Given the description of an element on the screen output the (x, y) to click on. 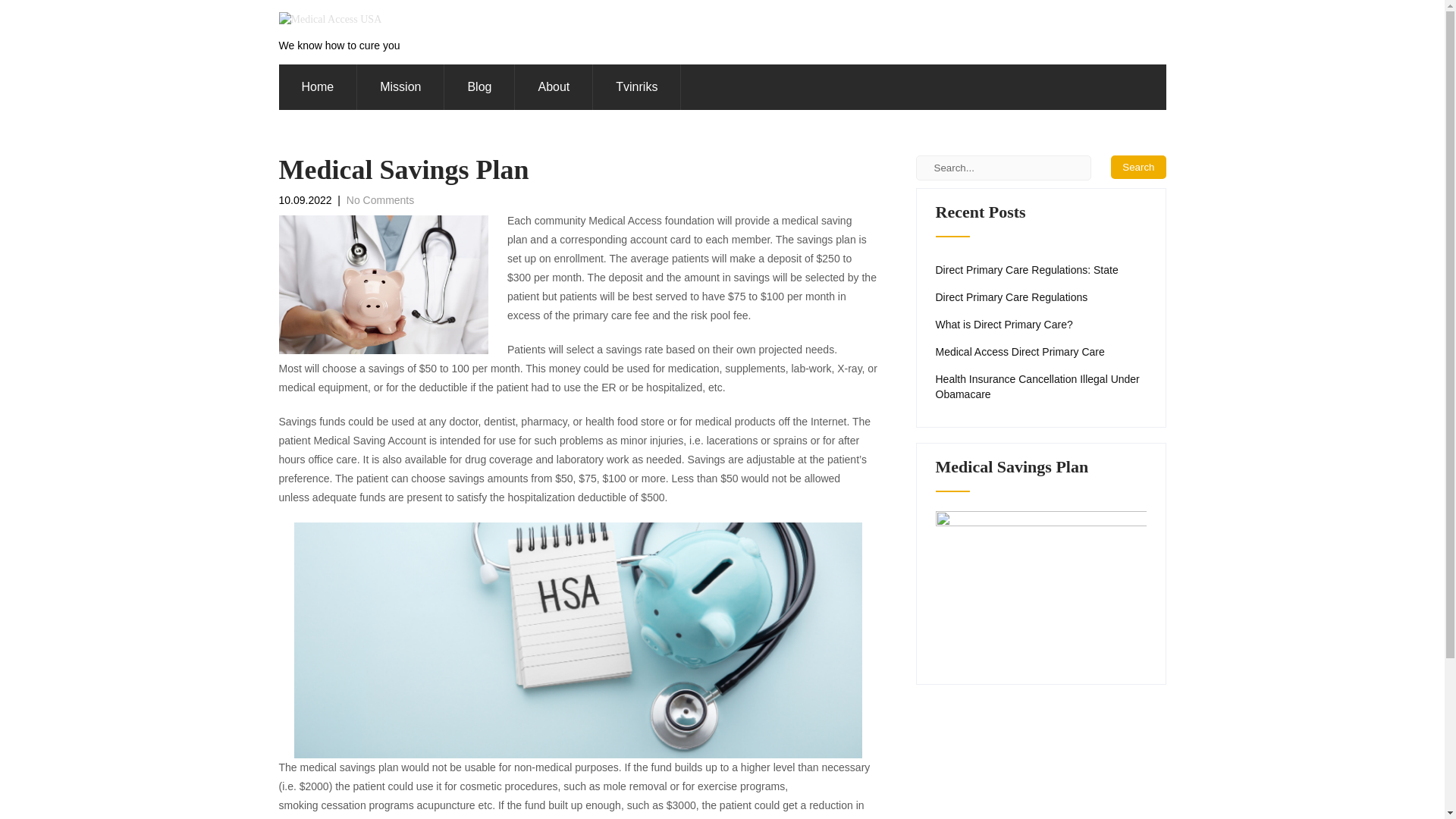
What is Direct Primary Care? (1004, 324)
Search (1138, 167)
Direct Primary Care Regulations: State (1027, 269)
No Comments (379, 200)
Home (317, 86)
Medical Access Direct Primary Care (1020, 351)
Search (1138, 167)
Direct Primary Care Regulations (1011, 296)
Search (1138, 167)
About (553, 86)
